Given the description of an element on the screen output the (x, y) to click on. 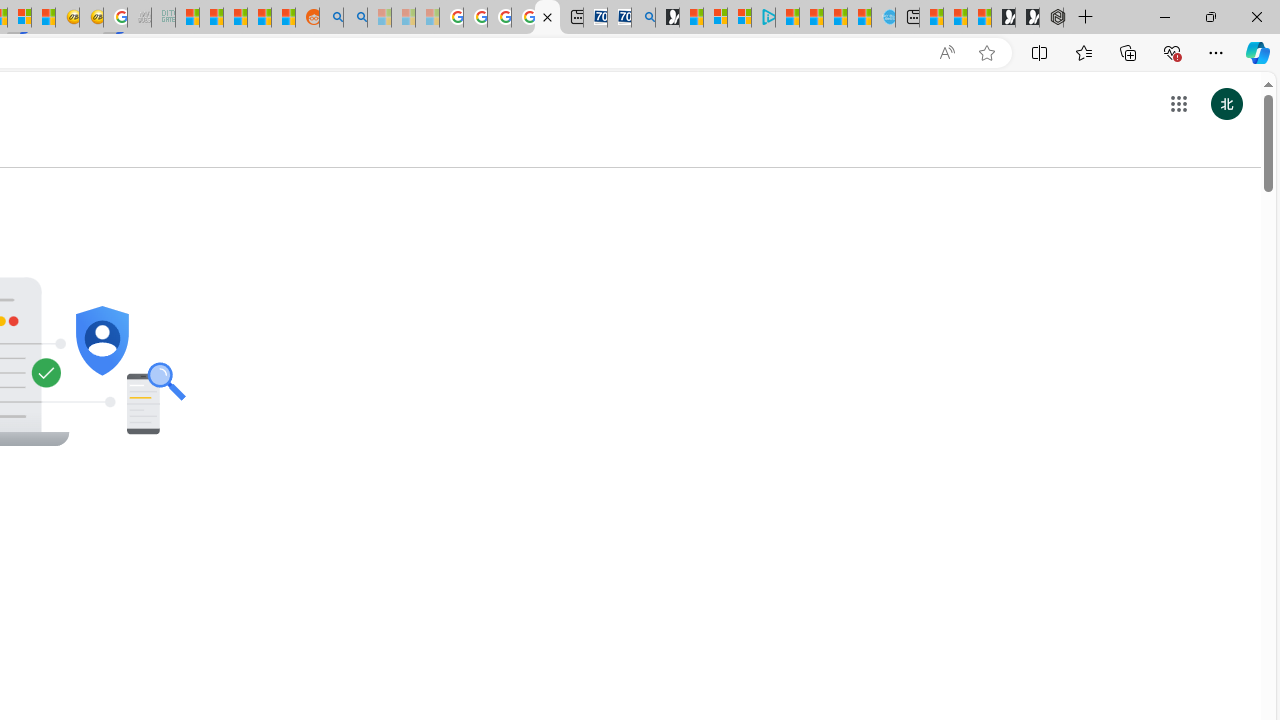
Class: gb_E (1178, 103)
